Given the description of an element on the screen output the (x, y) to click on. 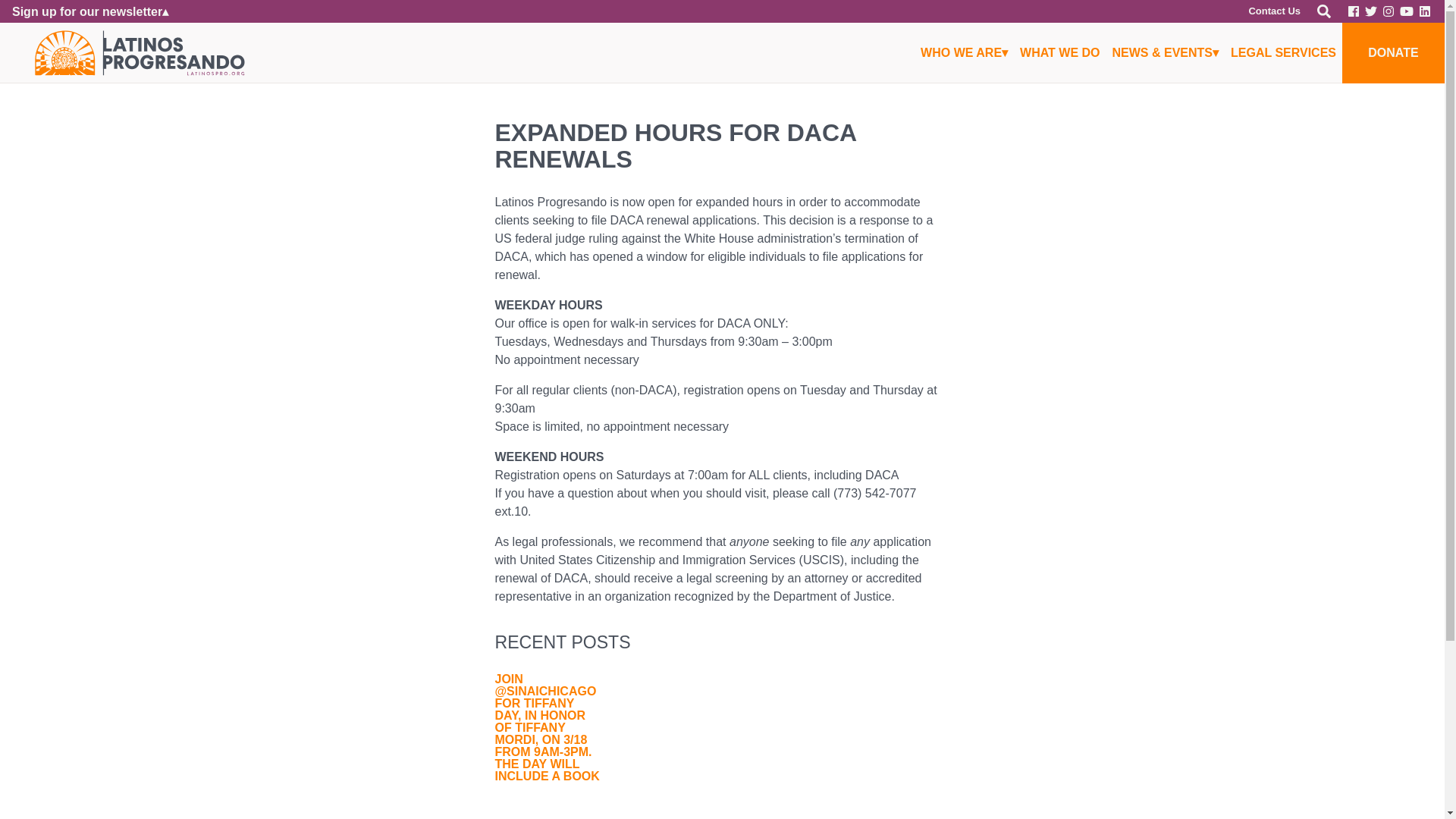
Contact Us (1273, 10)
WHAT WE DO (1059, 52)
LEGAL SERVICES (1283, 52)
